Given the description of an element on the screen output the (x, y) to click on. 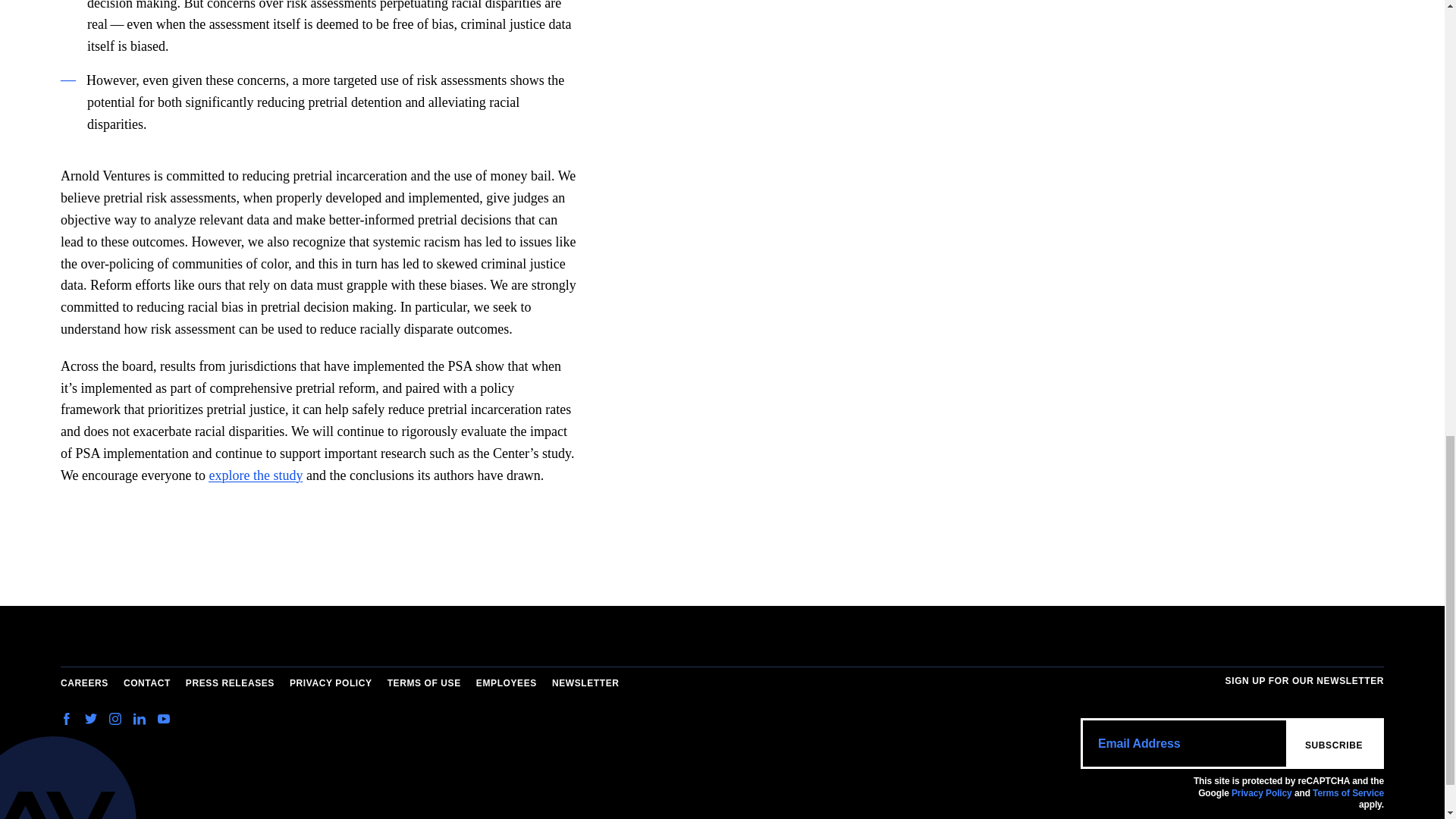
Follow us on Facebook (69, 719)
NEWSLETTER (585, 683)
Follow us on LinkedIn (139, 719)
EMPLOYEES (506, 683)
TERMS OF USE (424, 683)
Follow us on Twitter (90, 719)
CONTACT (146, 683)
PRIVACY POLICY (330, 683)
Terms of Service (1348, 792)
Subscribe (1333, 743)
